Given the description of an element on the screen output the (x, y) to click on. 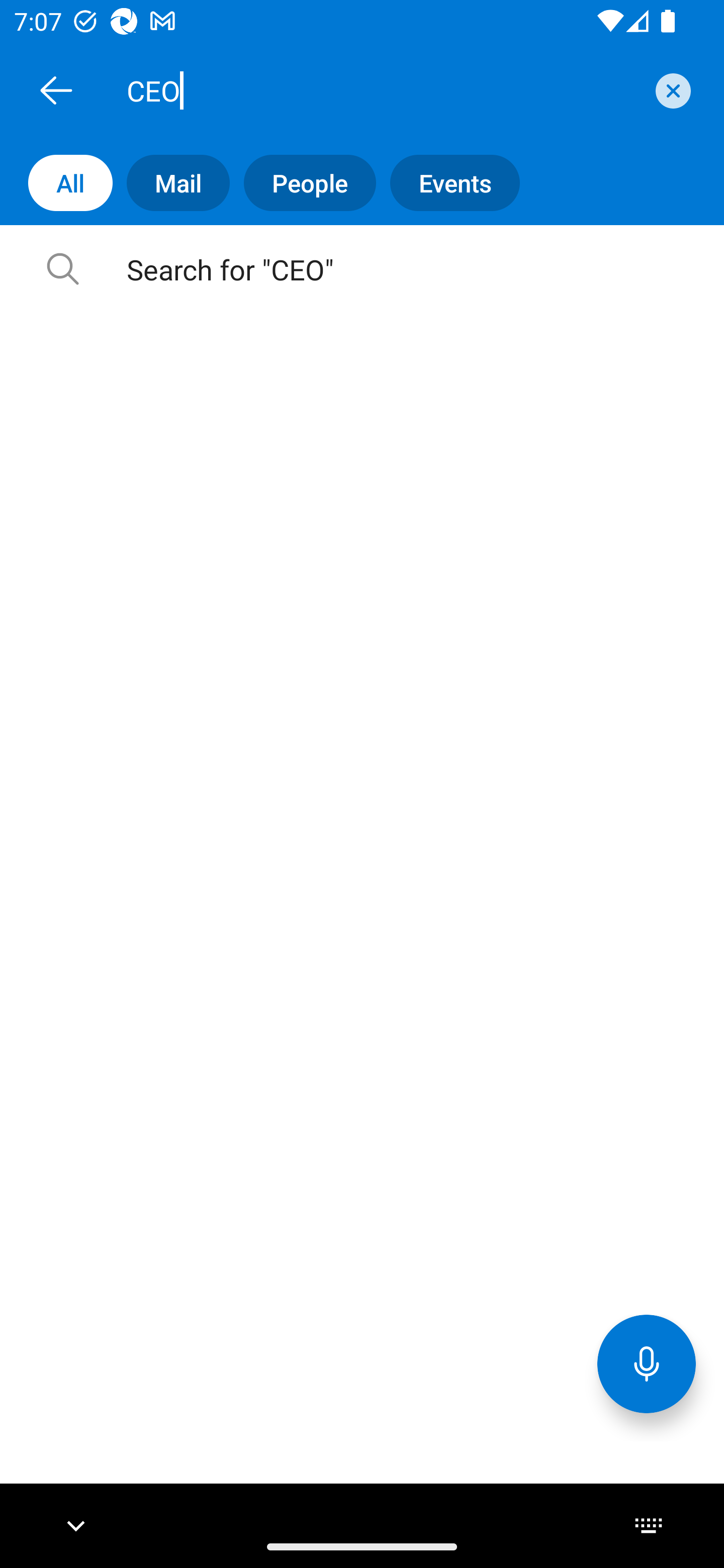
Back (55, 89)
CEO (384, 89)
clear search (670, 90)
Mail (170, 183)
People (302, 183)
Events (447, 183)
Voice Assistant (646, 1362)
